Given the description of an element on the screen output the (x, y) to click on. 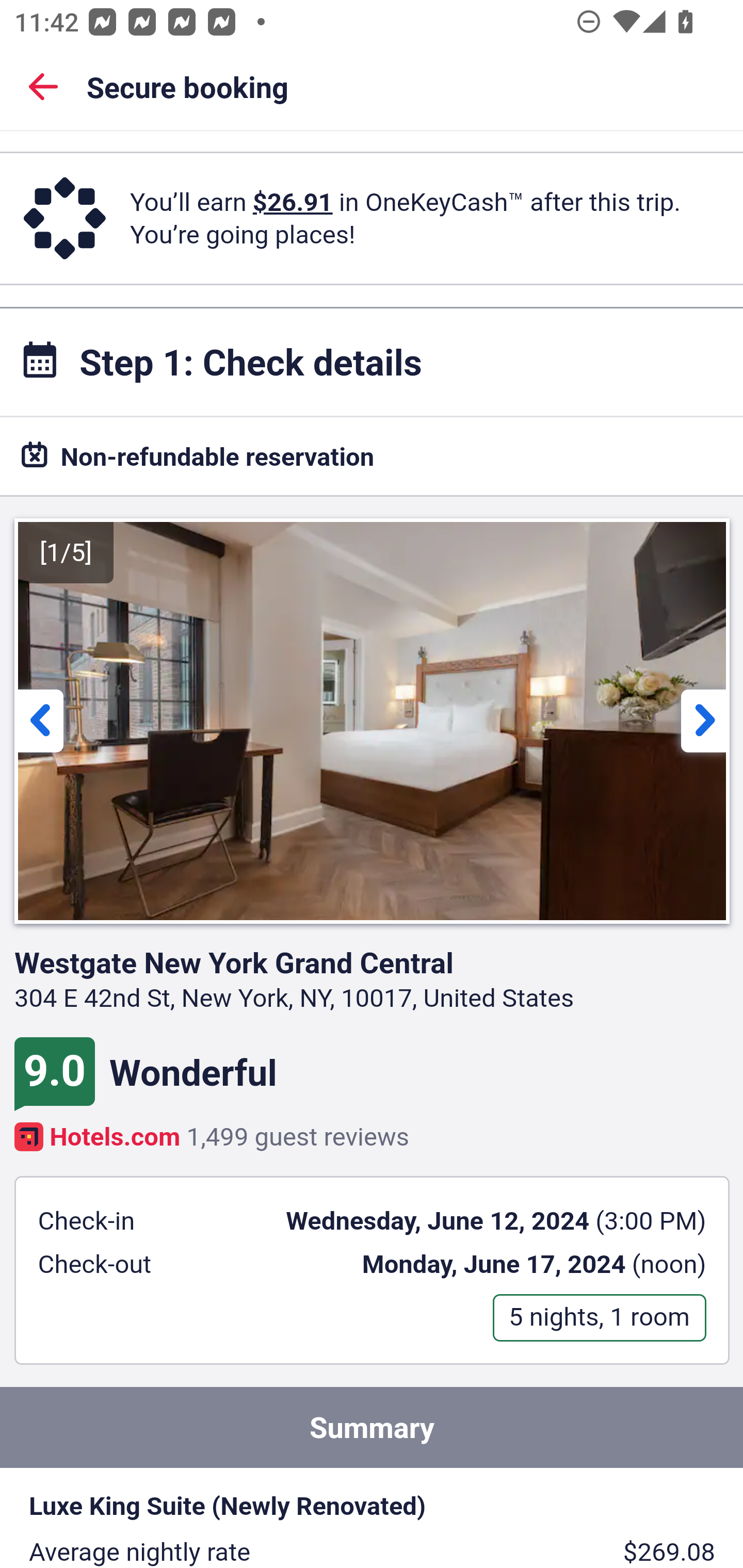
Back (43, 86)
